Given the description of an element on the screen output the (x, y) to click on. 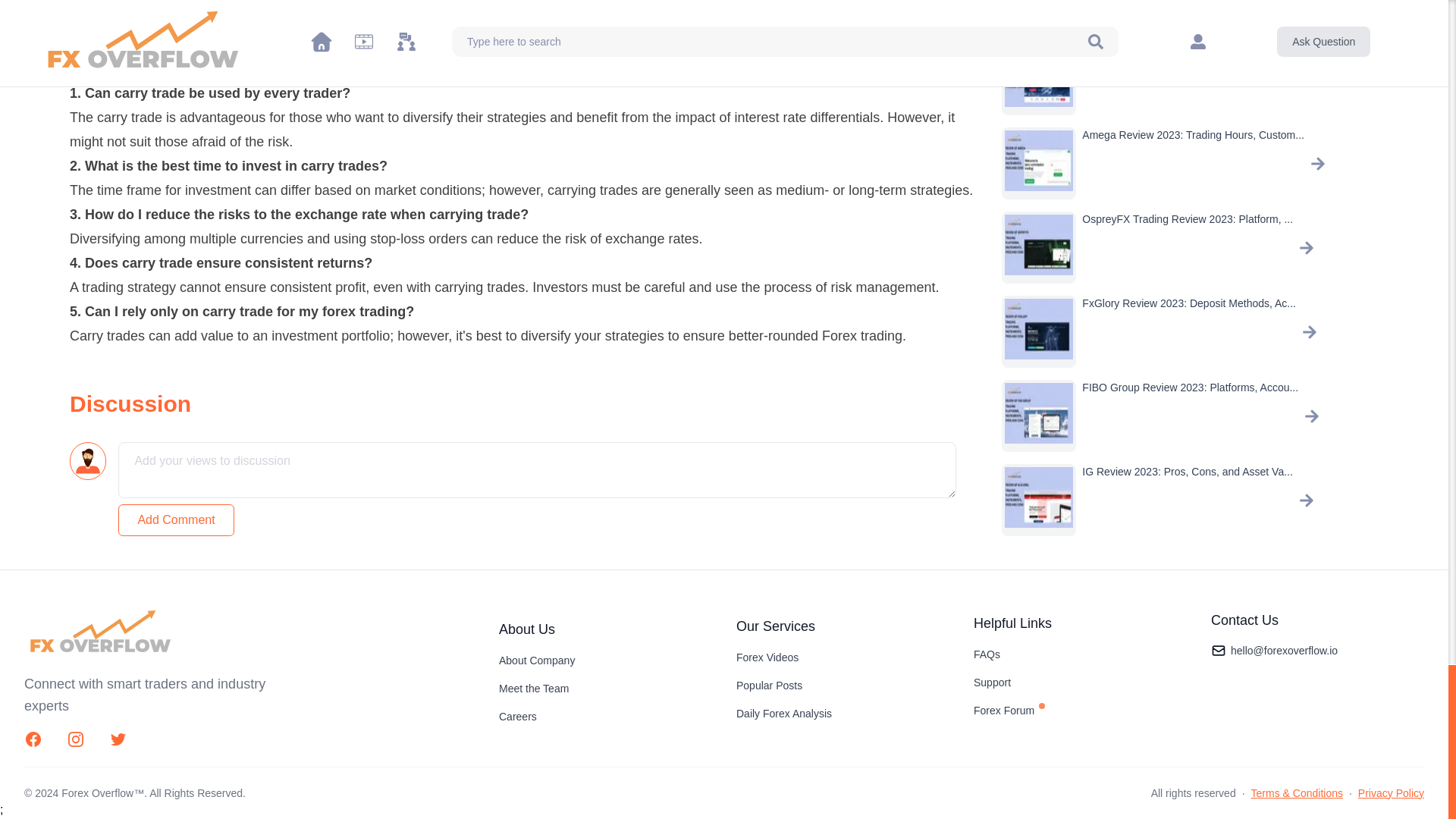
FAQs (987, 654)
Twitter (118, 738)
Popular Posts (769, 685)
Privacy Policy (1390, 792)
Meet the Team (534, 688)
Forex Videos (766, 657)
Daily Forex Analysis (783, 713)
Add Comment (174, 520)
Forex Forum (1009, 710)
About Company (537, 660)
Support (992, 682)
Careers (518, 716)
Instagram (75, 738)
Facebook (33, 738)
